Given the description of an element on the screen output the (x, y) to click on. 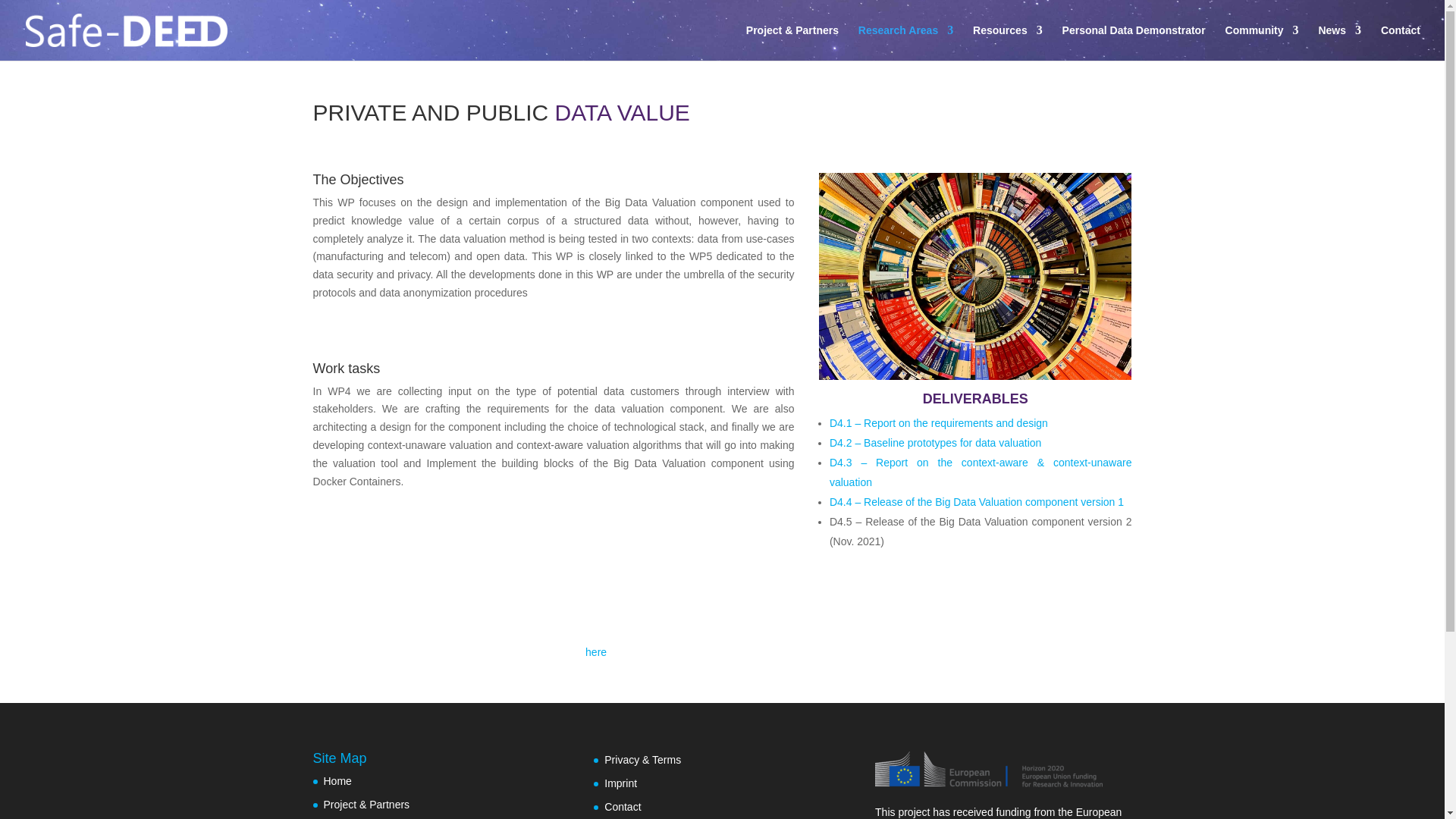
here (596, 652)
Community (1261, 42)
Home (336, 780)
Personal Data Demonstrator (1133, 42)
Imprint (620, 783)
Research Areas (906, 42)
Page 102 (553, 510)
Page 102 (553, 262)
Contact (1400, 42)
DELIVERABLES (975, 398)
Resources (1007, 42)
News (1339, 42)
